Given the description of an element on the screen output the (x, y) to click on. 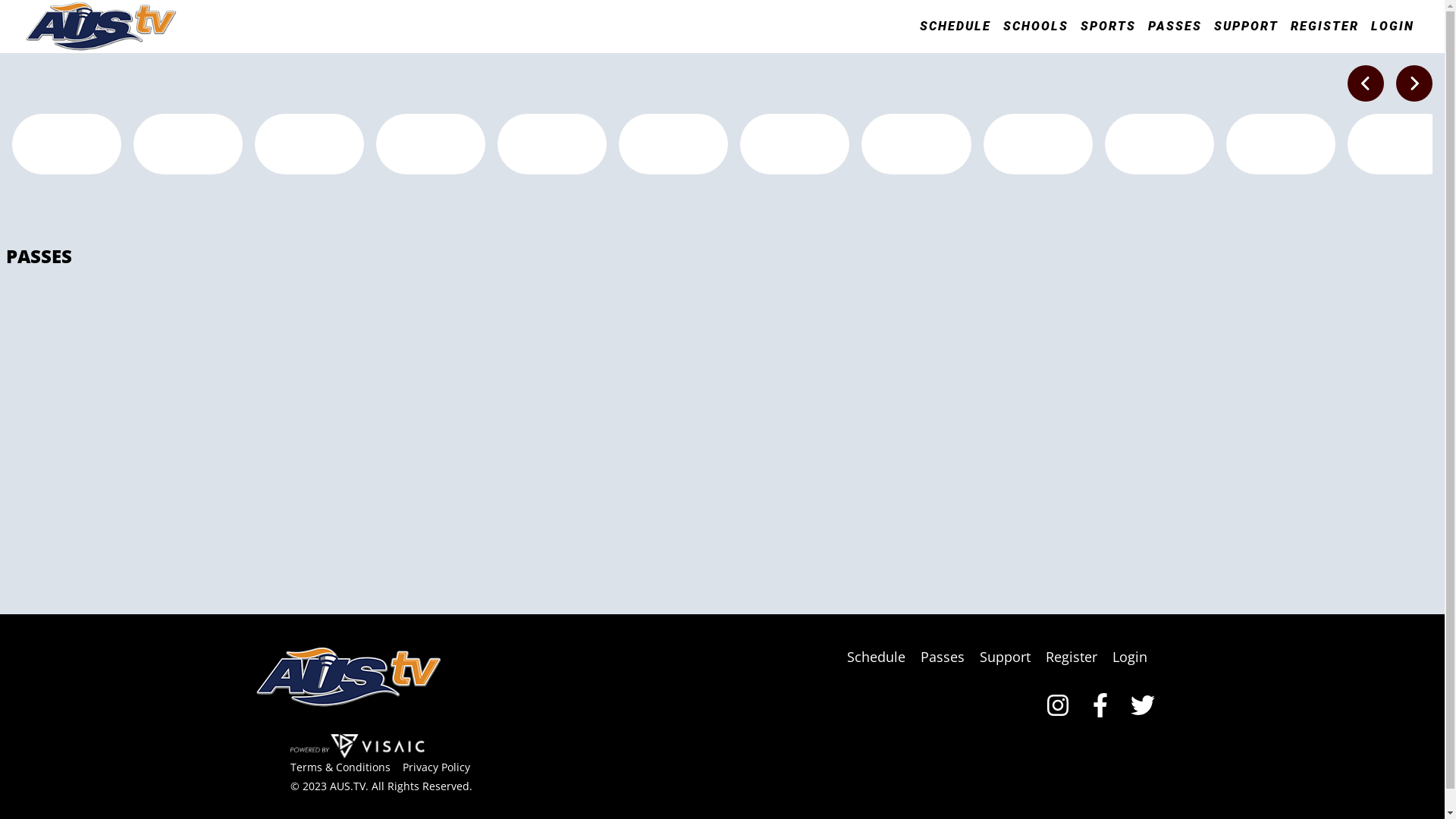
Register Element type: text (1076, 42)
Login Element type: text (1134, 42)
Schedule Element type: text (881, 42)
Privacy Policy Element type: text (441, 153)
Support Element type: text (1010, 42)
Passes Element type: text (947, 42)
LOGIN Element type: text (1403, 26)
Ok Element type: hover (1365, 83)
PASSES Element type: text (1186, 26)
Terms & Conditions Element type: text (345, 153)
REGISTER Element type: text (1335, 26)
SUPPORT Element type: text (1257, 26)
Ok Element type: hover (1414, 83)
